Given the description of an element on the screen output the (x, y) to click on. 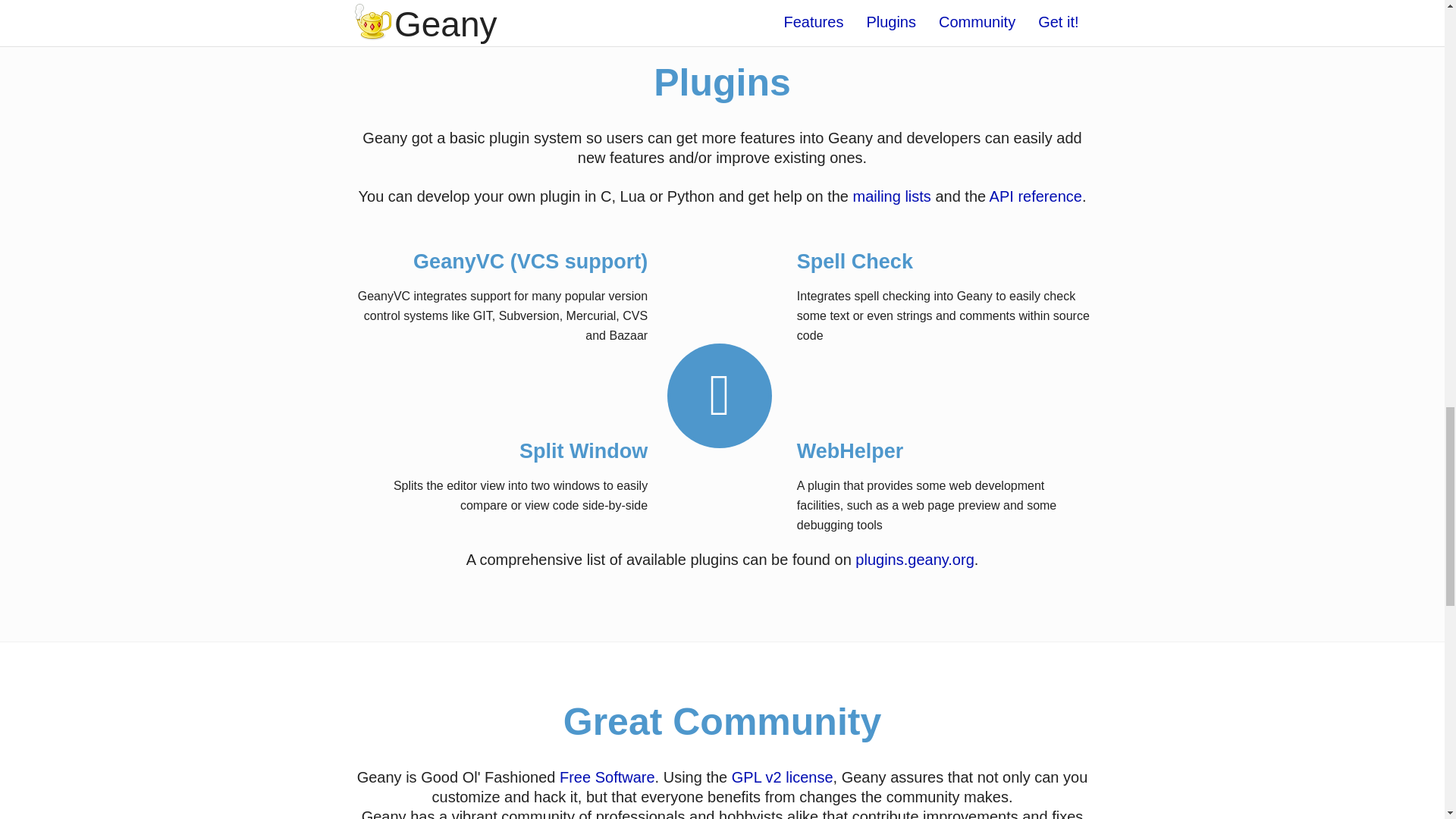
Free Software (607, 777)
mailing lists (890, 196)
plugins.geany.org (915, 559)
API reference (1035, 196)
GPL v2 license (782, 777)
